Given the description of an element on the screen output the (x, y) to click on. 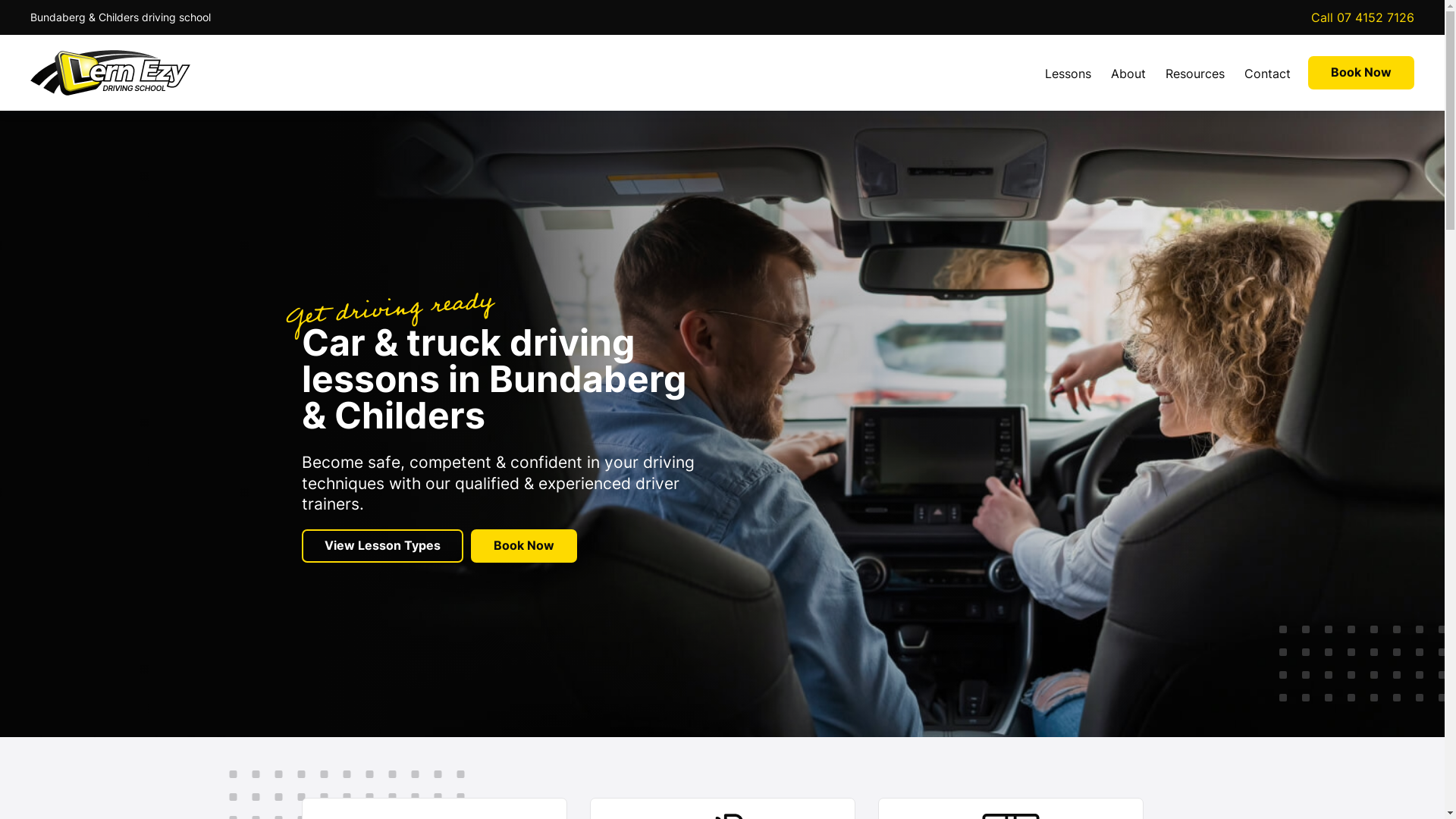
Book Now Element type: text (523, 545)
View Lesson Types Element type: text (382, 545)
About Element type: text (1128, 72)
Lessons Element type: text (1068, 72)
Book Now Element type: text (1361, 72)
Contact Element type: text (1267, 72)
Resources Element type: text (1194, 72)
Call 07 4152 7126 Element type: text (1362, 17)
